Given the description of an element on the screen output the (x, y) to click on. 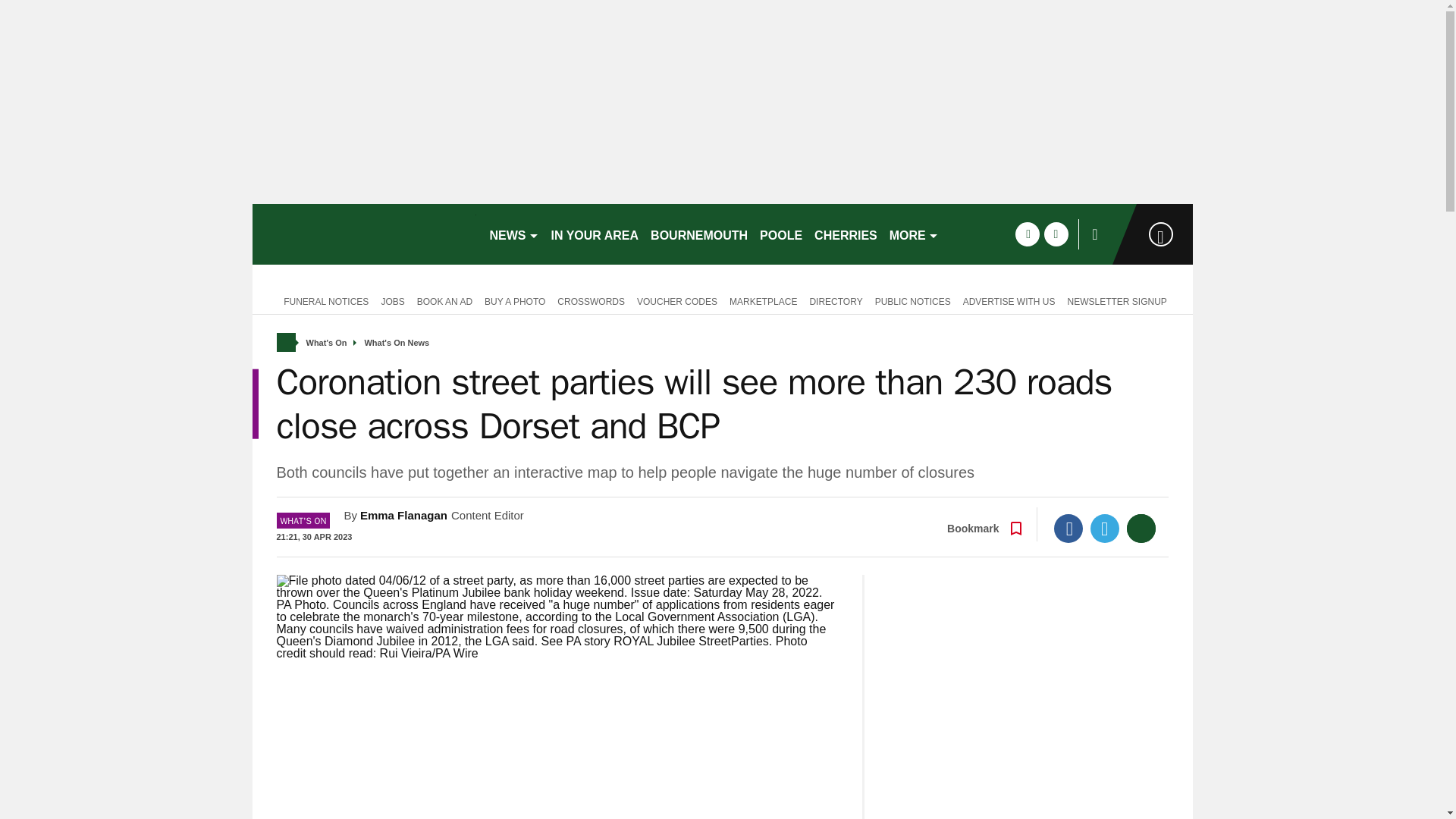
Facebook (1068, 528)
MORE (913, 233)
dorsetlive (363, 233)
BOURNEMOUTH (699, 233)
VOUCHER CODES (676, 300)
FUNERAL NOTICES (322, 300)
facebook (1026, 233)
IN YOUR AREA (594, 233)
CROSSWORDS (590, 300)
BOOK AN AD (444, 300)
MARKETPLACE (763, 300)
twitter (1055, 233)
POOLE (781, 233)
NEWS (513, 233)
JOBS (392, 300)
